Given the description of an element on the screen output the (x, y) to click on. 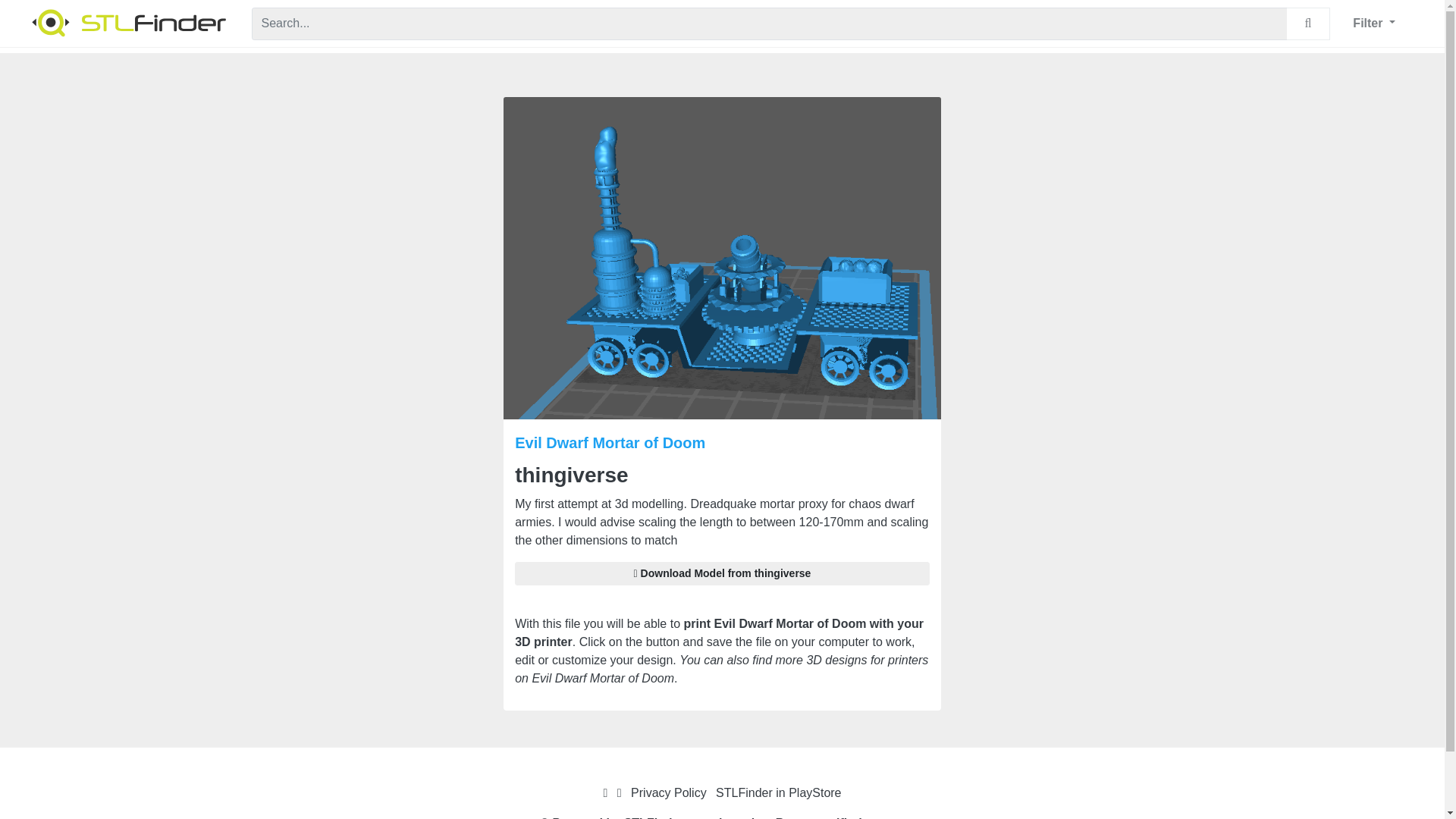
Download Model from thingiverse (722, 573)
Filter (1373, 23)
www.stlfinder.com (847, 817)
Privacy Policy (668, 792)
STLFinder in PlayStore (778, 792)
